Given the description of an element on the screen output the (x, y) to click on. 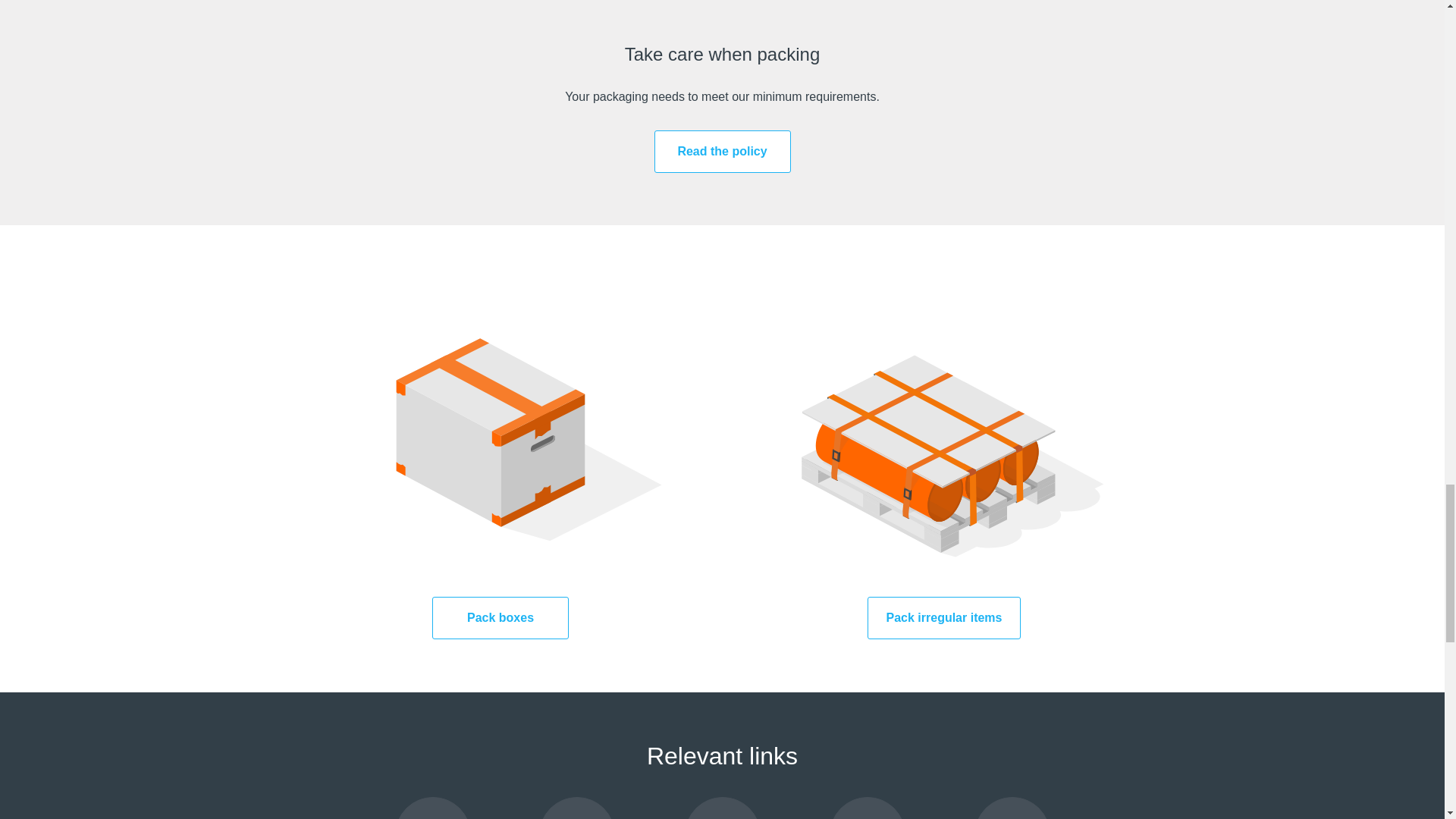
Pack irregular items (944, 618)
Ship in 5 steps (577, 807)
What to ship (1011, 807)
Contact sales (432, 807)
Read the policy (721, 151)
Ship pallets (867, 807)
Labelling (722, 807)
Pack boxes (500, 618)
